Given the description of an element on the screen output the (x, y) to click on. 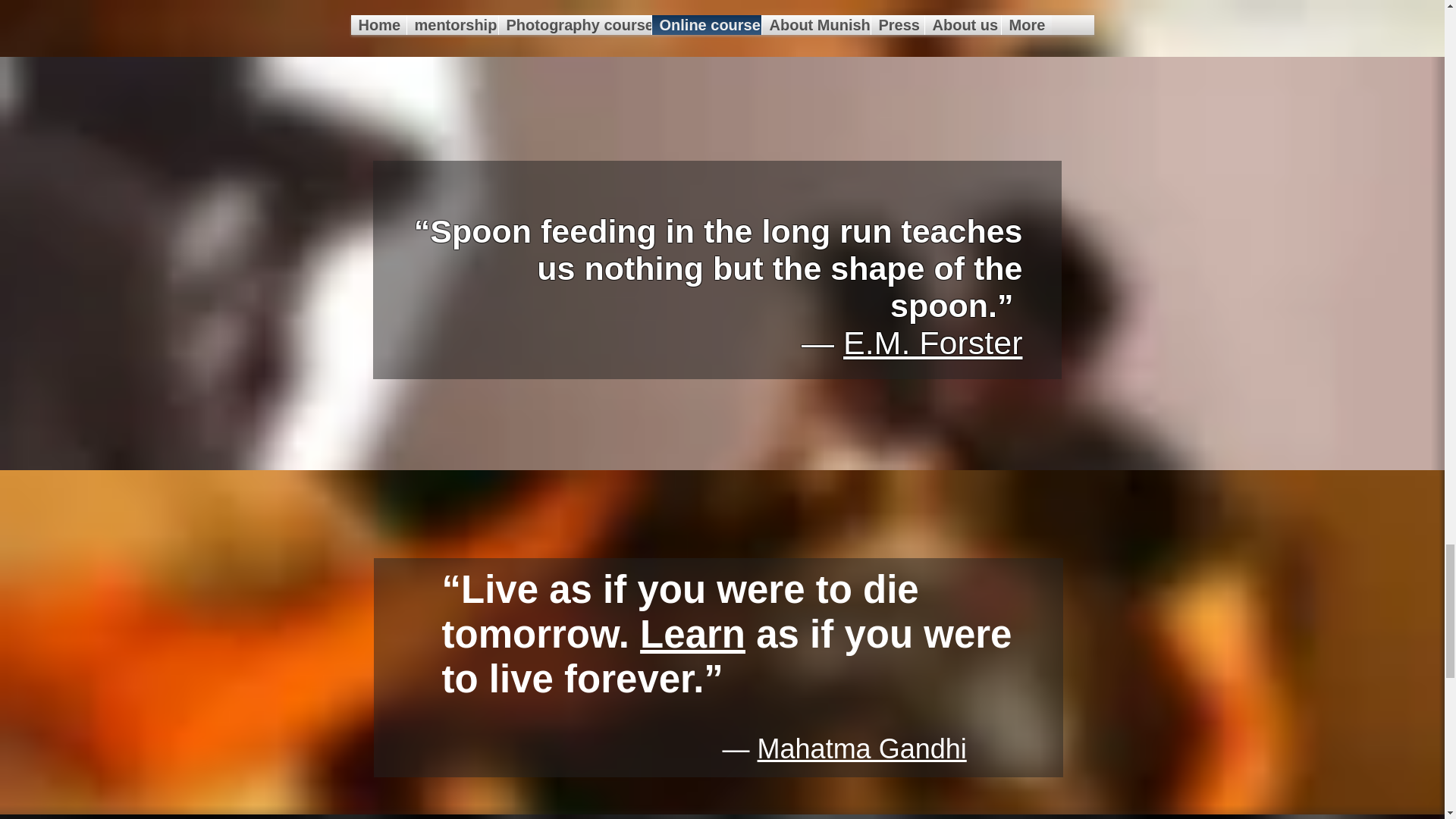
E.M. Forster (933, 342)
Learn (692, 634)
Mahatma Gandhi (861, 748)
